Given the description of an element on the screen output the (x, y) to click on. 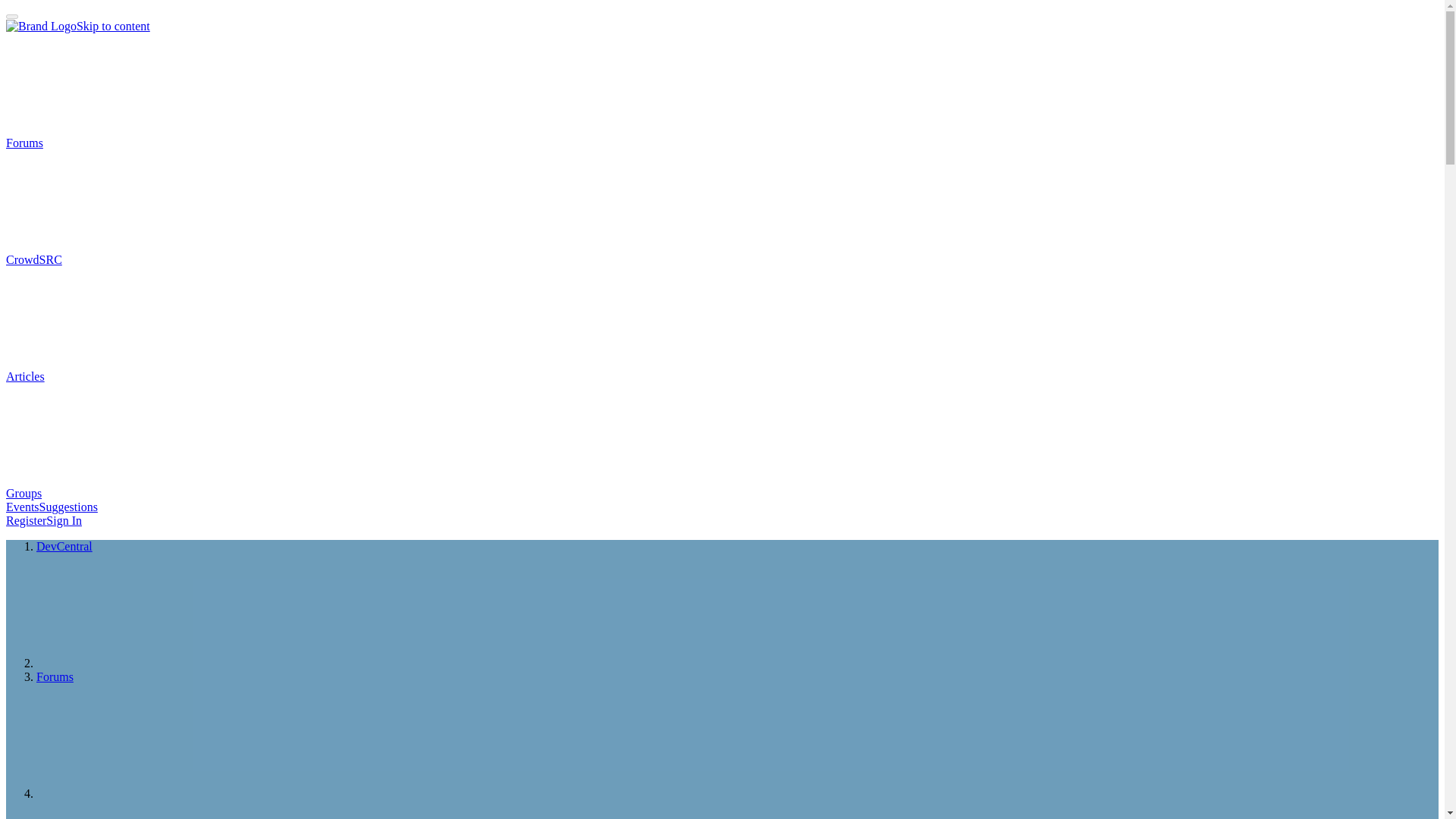
Sign In (63, 520)
Forums (55, 676)
DevCentral (64, 545)
Articles (138, 376)
CrowdSRC (147, 259)
Register (25, 520)
Forums (137, 142)
Suggestions (68, 506)
Events (22, 506)
Groups (137, 492)
